Given the description of an element on the screen output the (x, y) to click on. 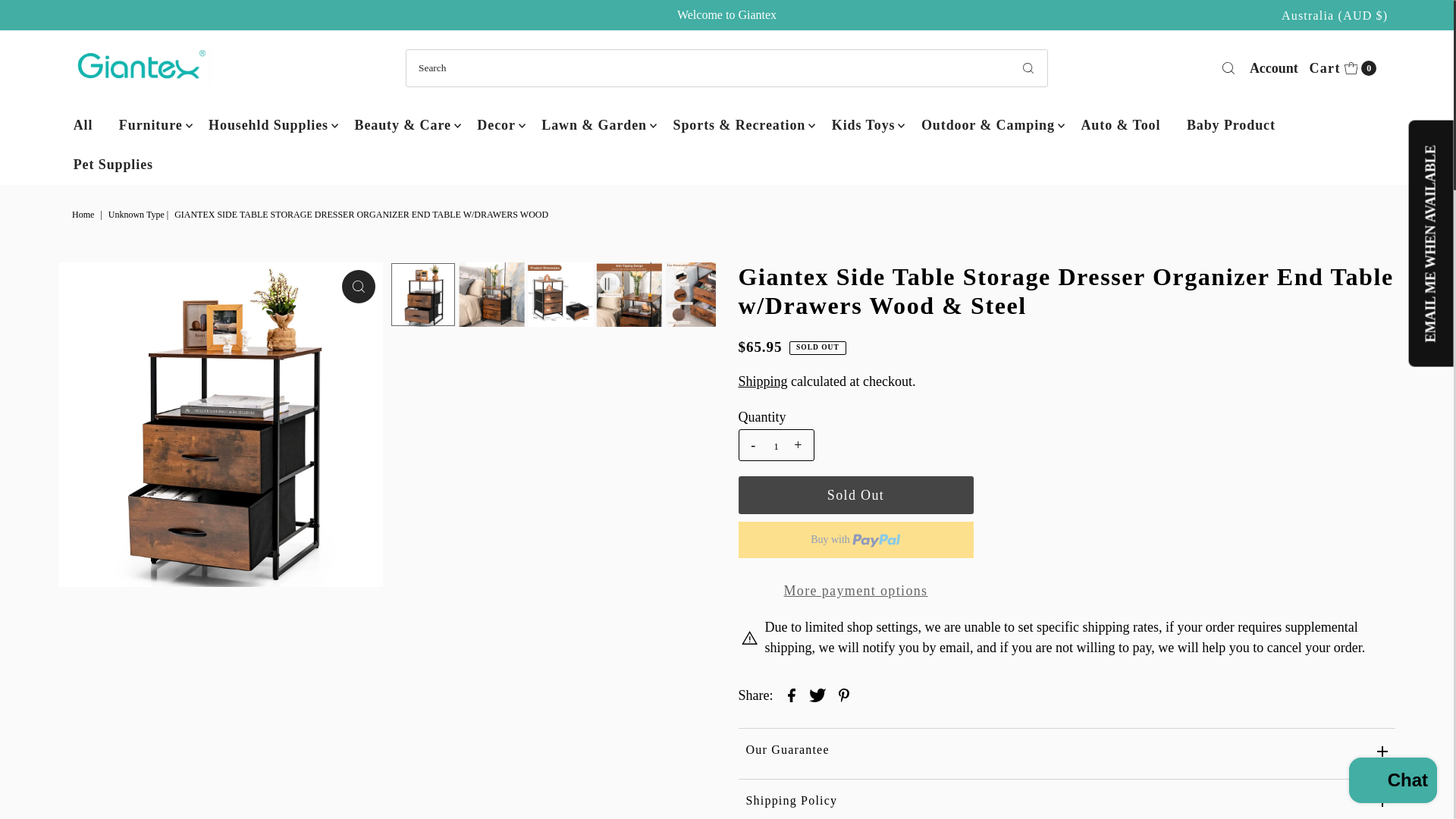
Share on Facebook (791, 693)
Share on Pinterest (844, 693)
Sold Out (1342, 67)
All (856, 494)
Home (83, 125)
Click to zoom (84, 214)
Account (358, 286)
Furniture (1273, 67)
Share on Twitter (150, 125)
